Given the description of an element on the screen output the (x, y) to click on. 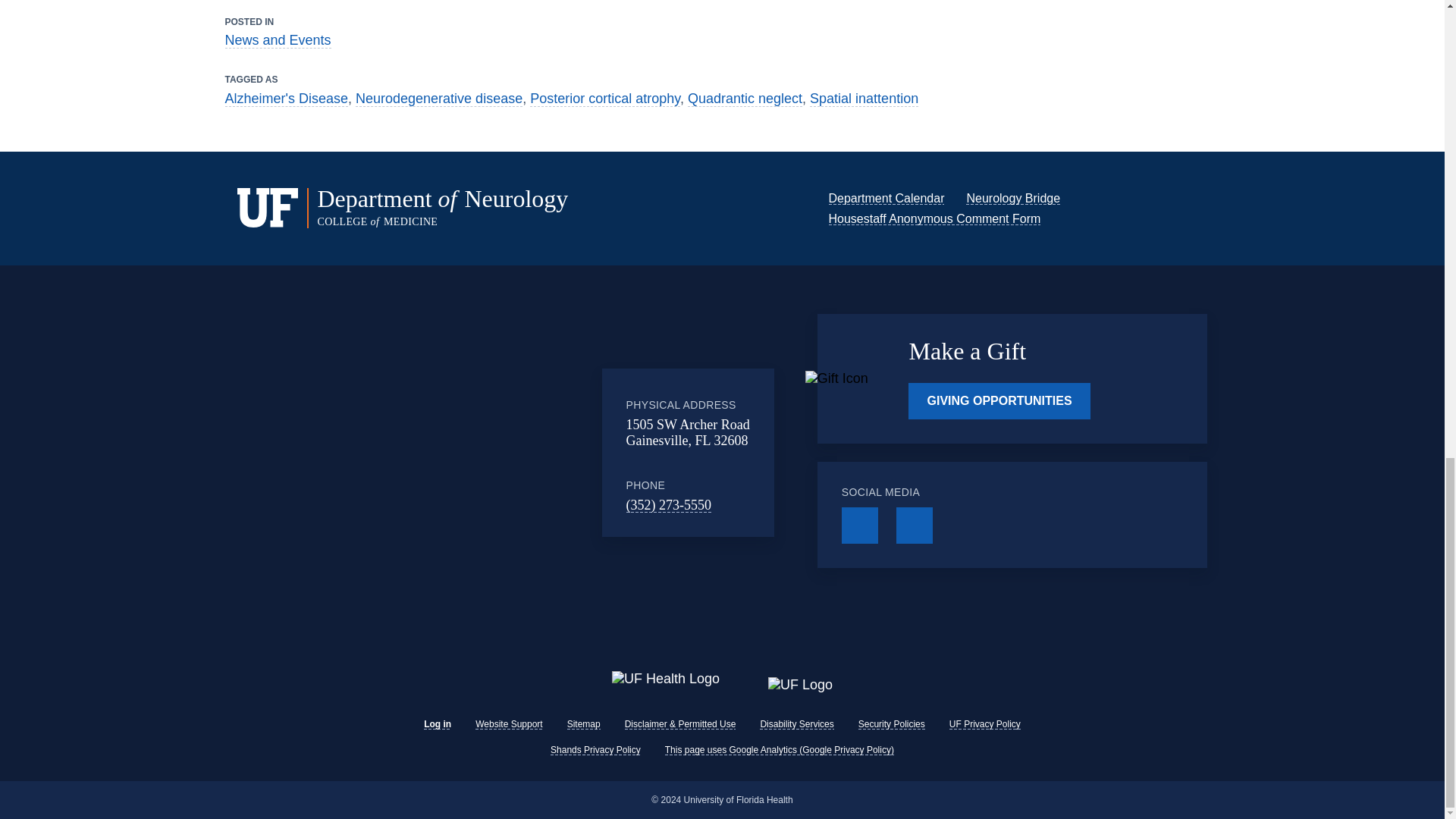
Google Maps Embed (477, 452)
Neurology Bridge (1012, 197)
Disability Services (796, 724)
Security Policies (891, 724)
Housestaff Anonymous Comment Form (934, 218)
Shands Privacy Policy (595, 749)
UF Privacy Policy (984, 724)
Department Calendar (885, 197)
Sitemap (583, 724)
Log in (437, 724)
